Given the description of an element on the screen output the (x, y) to click on. 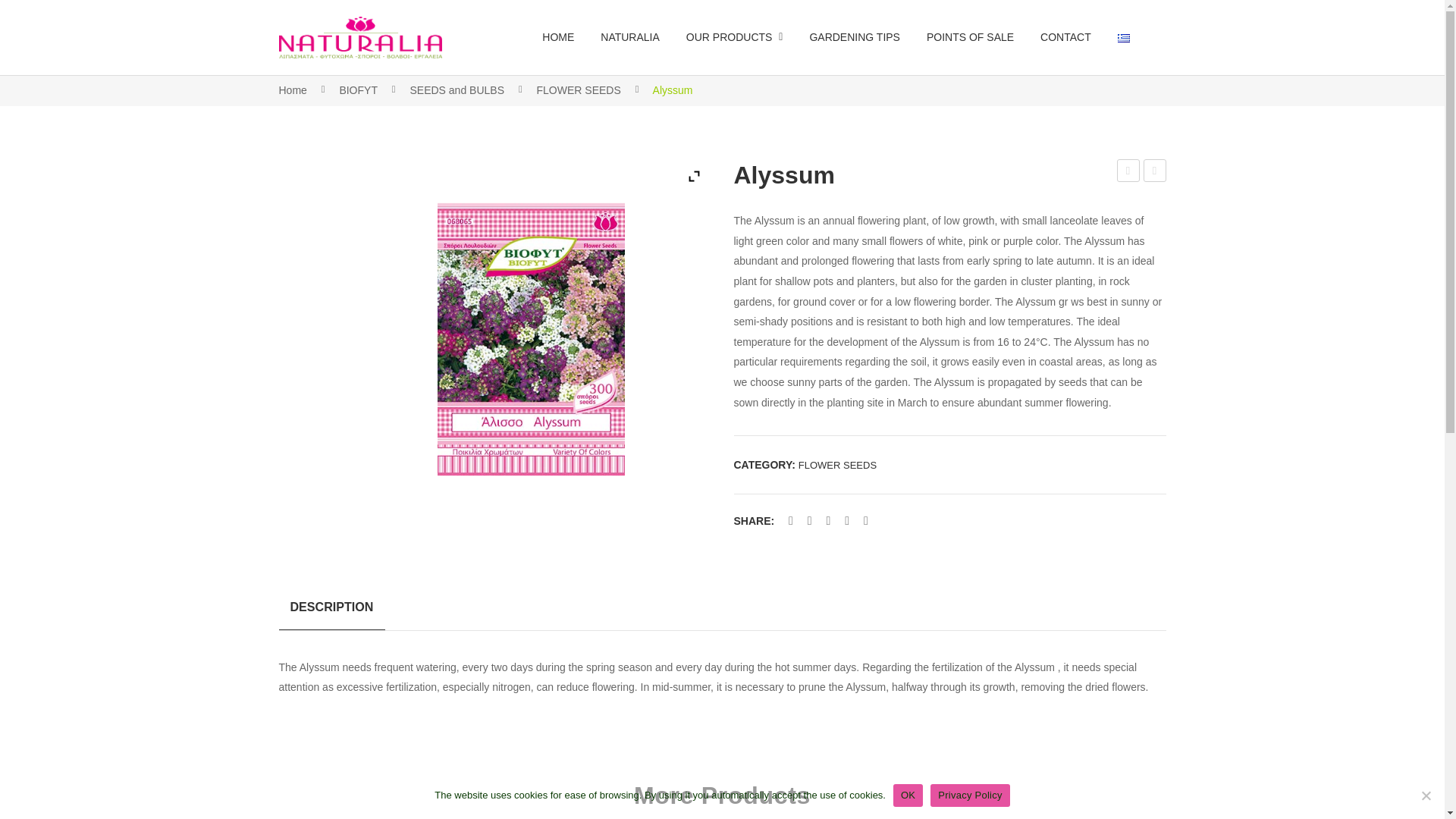
CONTACT (1065, 37)
068065 (530, 338)
OUR PRODUCTS (734, 37)
NATURALIA (629, 37)
GARDENING TIPS (854, 37)
POINTS OF SALE (969, 37)
